Given the description of an element on the screen output the (x, y) to click on. 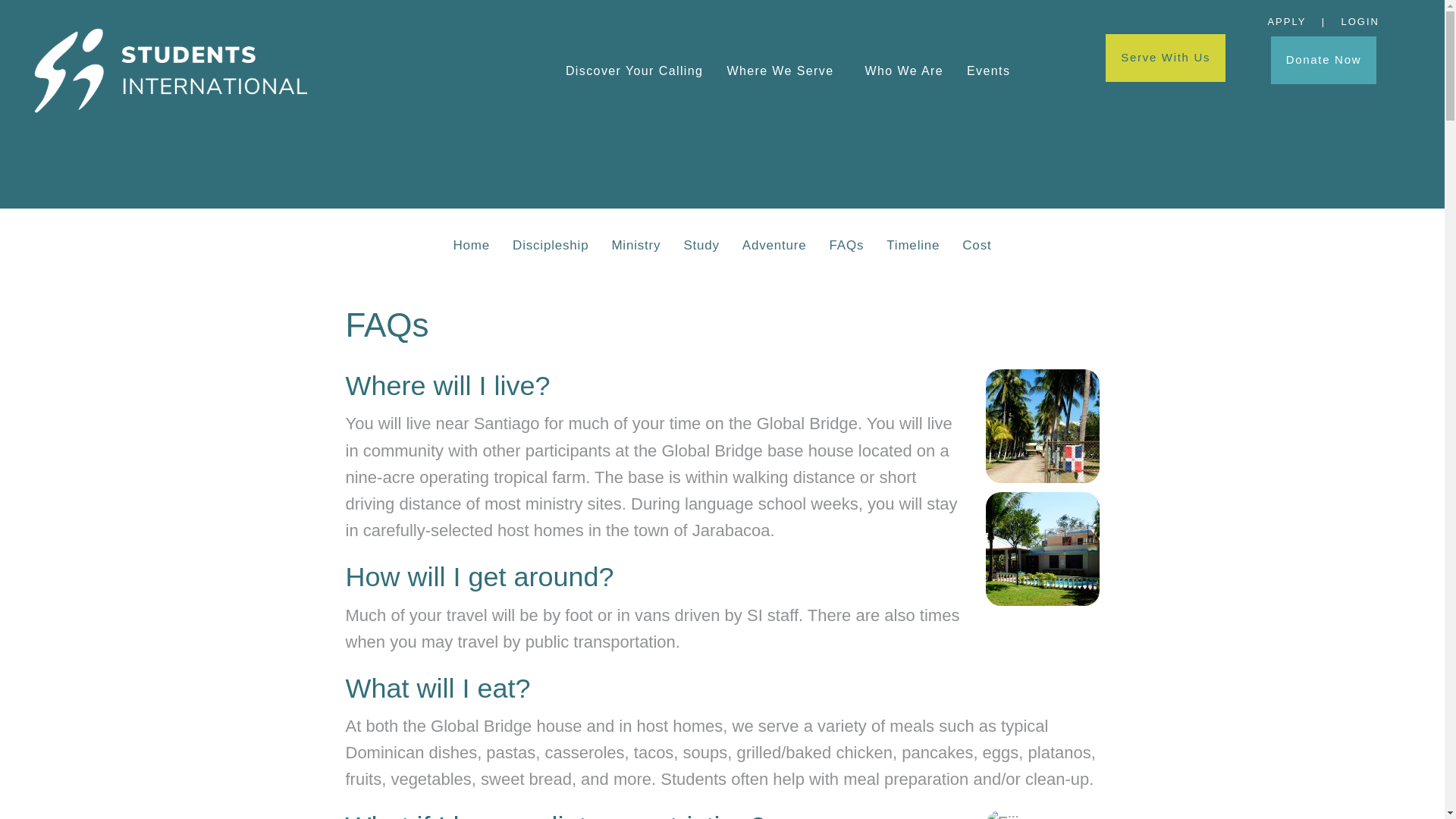
Ministry (635, 244)
Study (700, 244)
Who We Are (904, 71)
LOGIN (1359, 21)
Adventure (774, 244)
Discover Your Calling (634, 71)
APPLY (1286, 21)
Home (472, 244)
Events (988, 71)
Discipleship (549, 244)
